Given the description of an element on the screen output the (x, y) to click on. 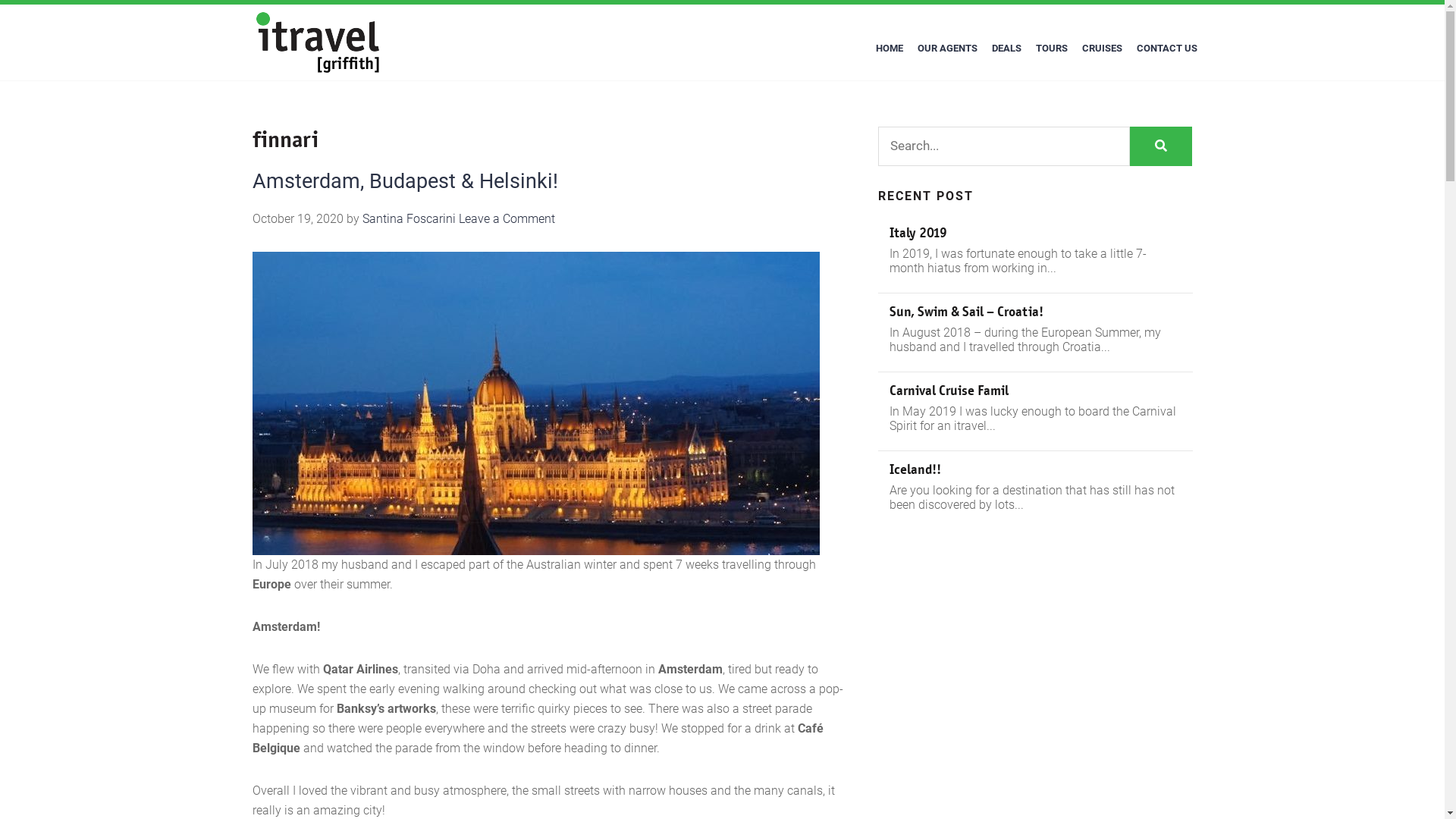
Santina Foscarini Element type: text (408, 218)
DEALS Element type: text (1005, 47)
CRUISES Element type: text (1102, 47)
CONTACT US Element type: text (1166, 47)
itravelgriffith.com.au-logo Element type: hover (317, 42)
Skip to main content Element type: text (0, 0)
Amsterdam, Budapest & Helsinki! Element type: text (404, 181)
OUR AGENTS Element type: text (946, 47)
HOME Element type: text (889, 47)
Leave a Comment Element type: text (506, 218)
TOURS Element type: text (1050, 47)
